Given the description of an element on the screen output the (x, y) to click on. 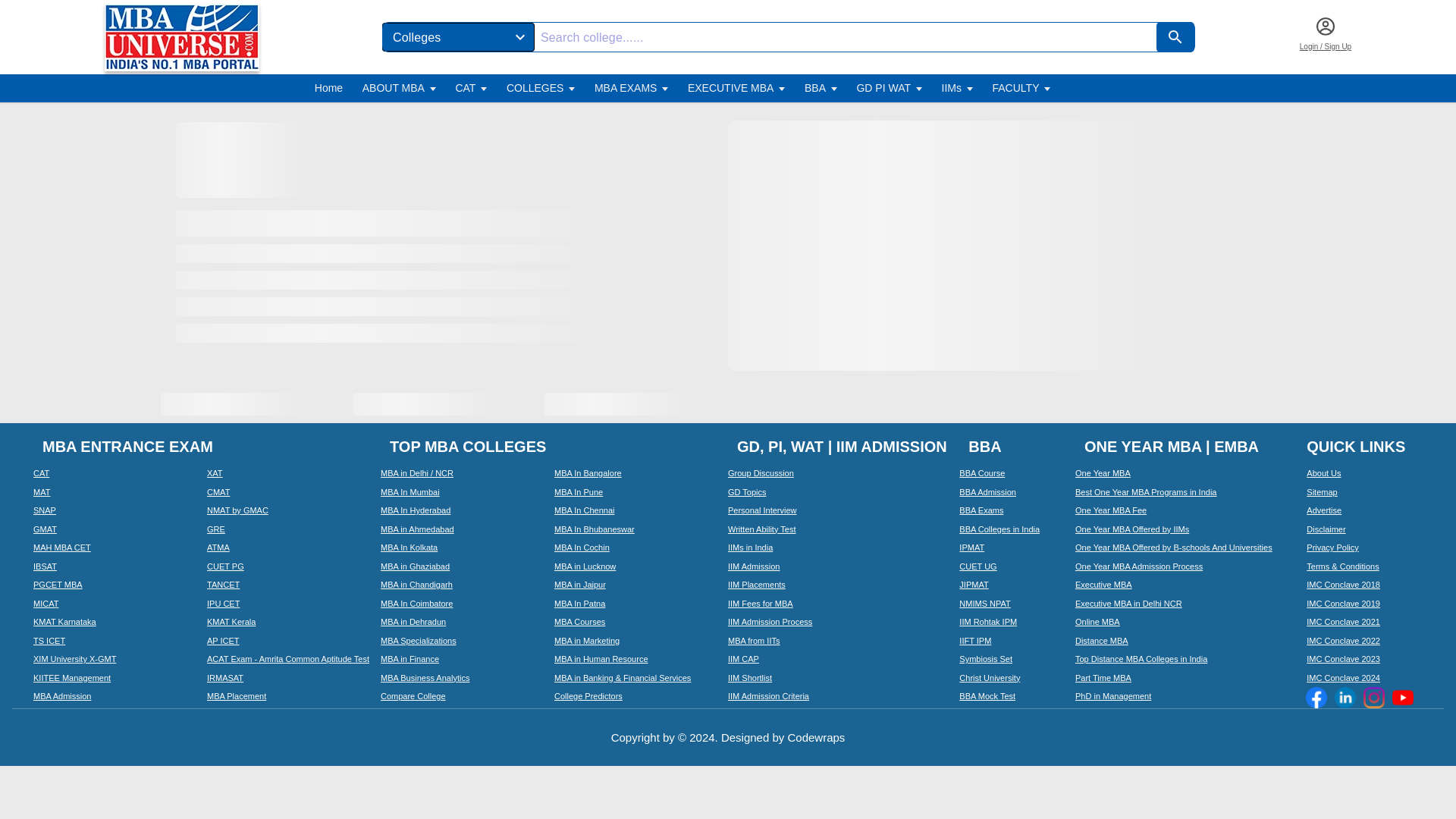
ABOUT MBA (398, 88)
Home (328, 88)
ABOUT MBA (393, 88)
